Given the description of an element on the screen output the (x, y) to click on. 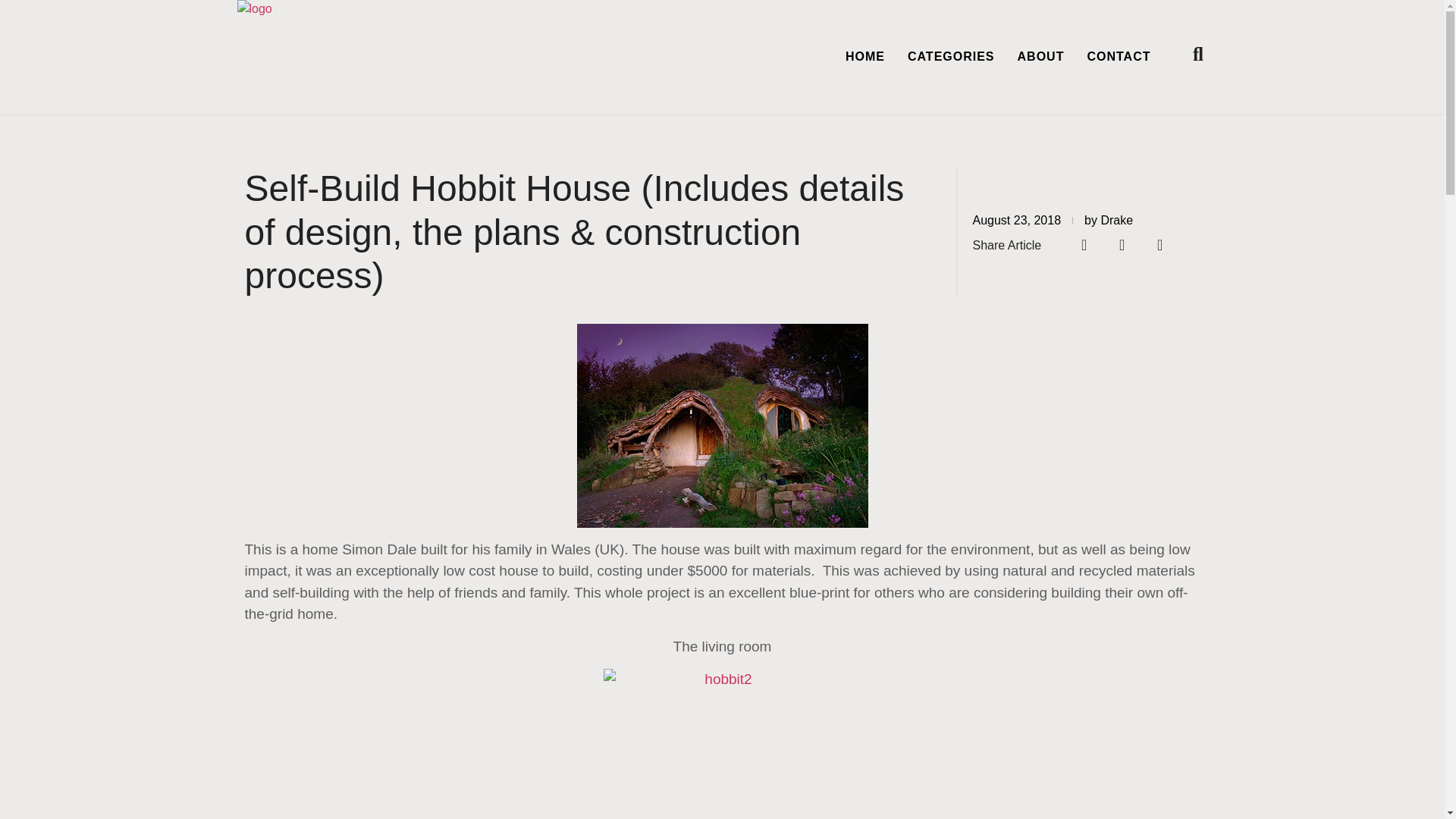
ABOUT (1040, 56)
HOME (865, 56)
CATEGORIES (950, 56)
CONTACT (1118, 56)
